Given the description of an element on the screen output the (x, y) to click on. 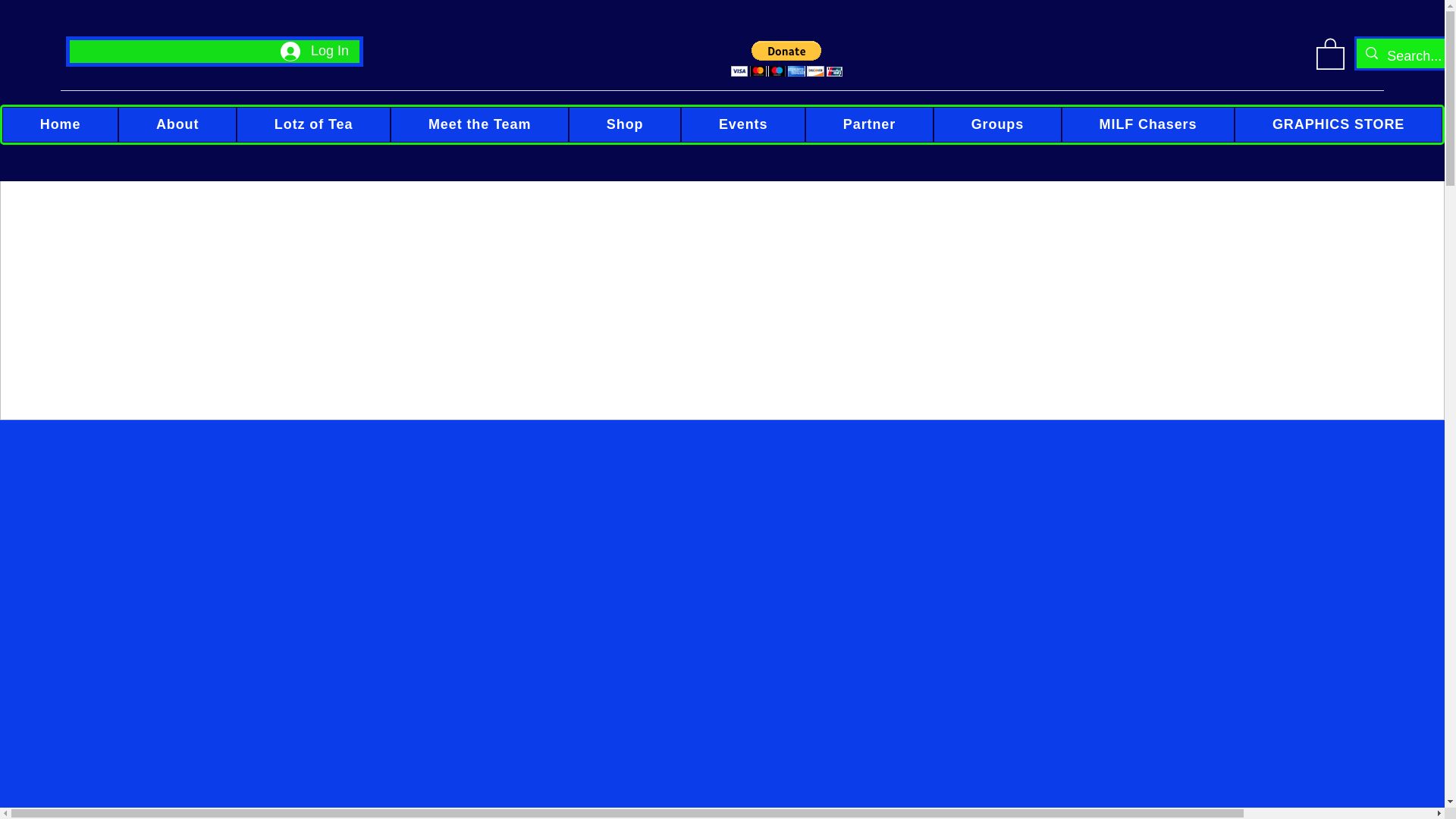
Groups (997, 124)
Home (59, 124)
Log In (314, 51)
About (176, 124)
Events (743, 124)
GRAPHICS STORE (1338, 124)
Meet the Team (479, 124)
Lotz of Tea (312, 124)
Partner (869, 124)
Shop (625, 124)
MILF Chasers (1147, 124)
